Given the description of an element on the screen output the (x, y) to click on. 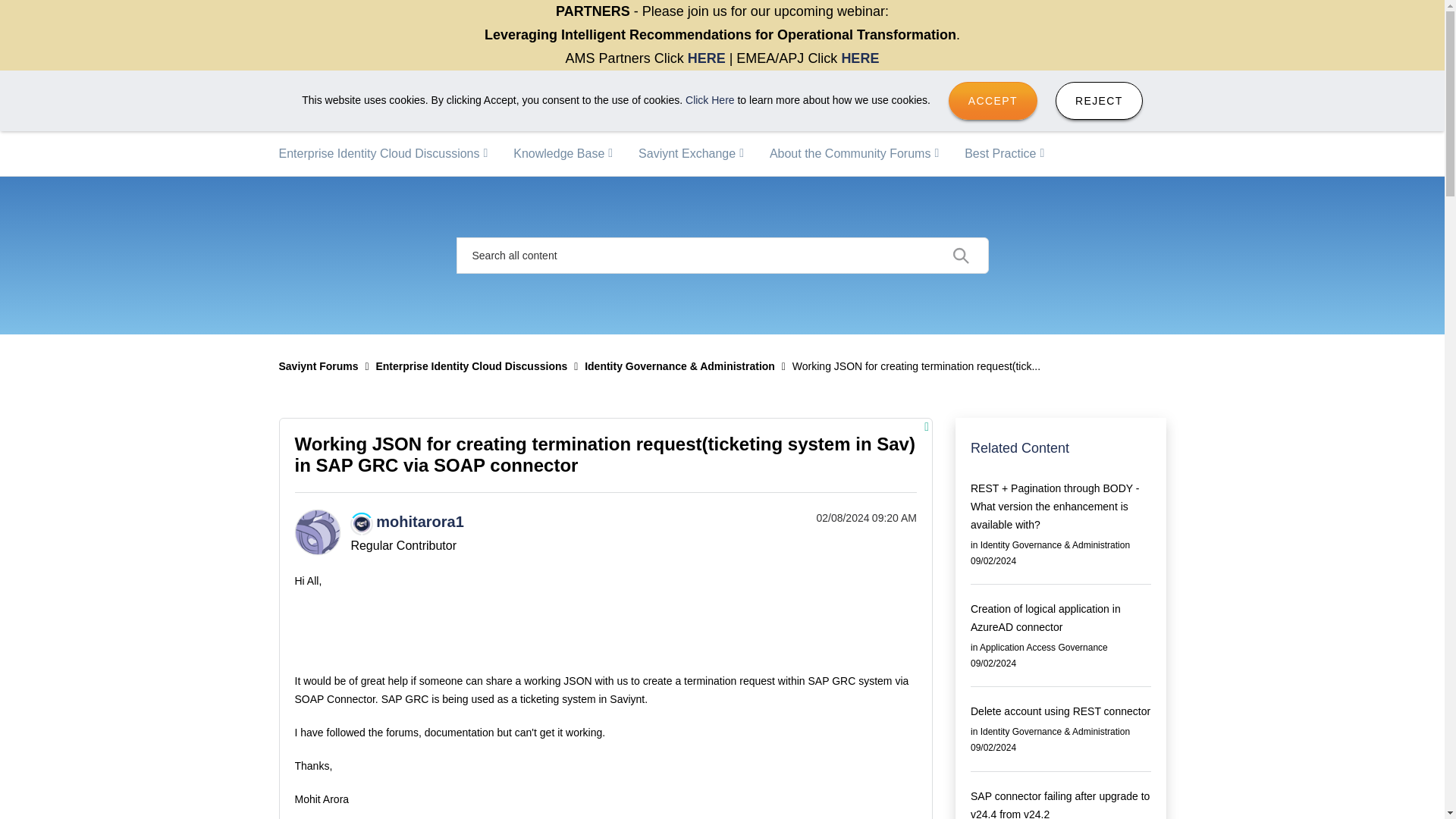
Knowledge Base (563, 153)
Enterprise Identity Cloud Discussions (382, 153)
REJECT (1098, 100)
HERE (706, 58)
Best Practice (1004, 153)
Search (722, 255)
Search (960, 255)
Regular Contributor (361, 523)
ACCEPT (992, 100)
Saviynt Forums (348, 100)
